Given the description of an element on the screen output the (x, y) to click on. 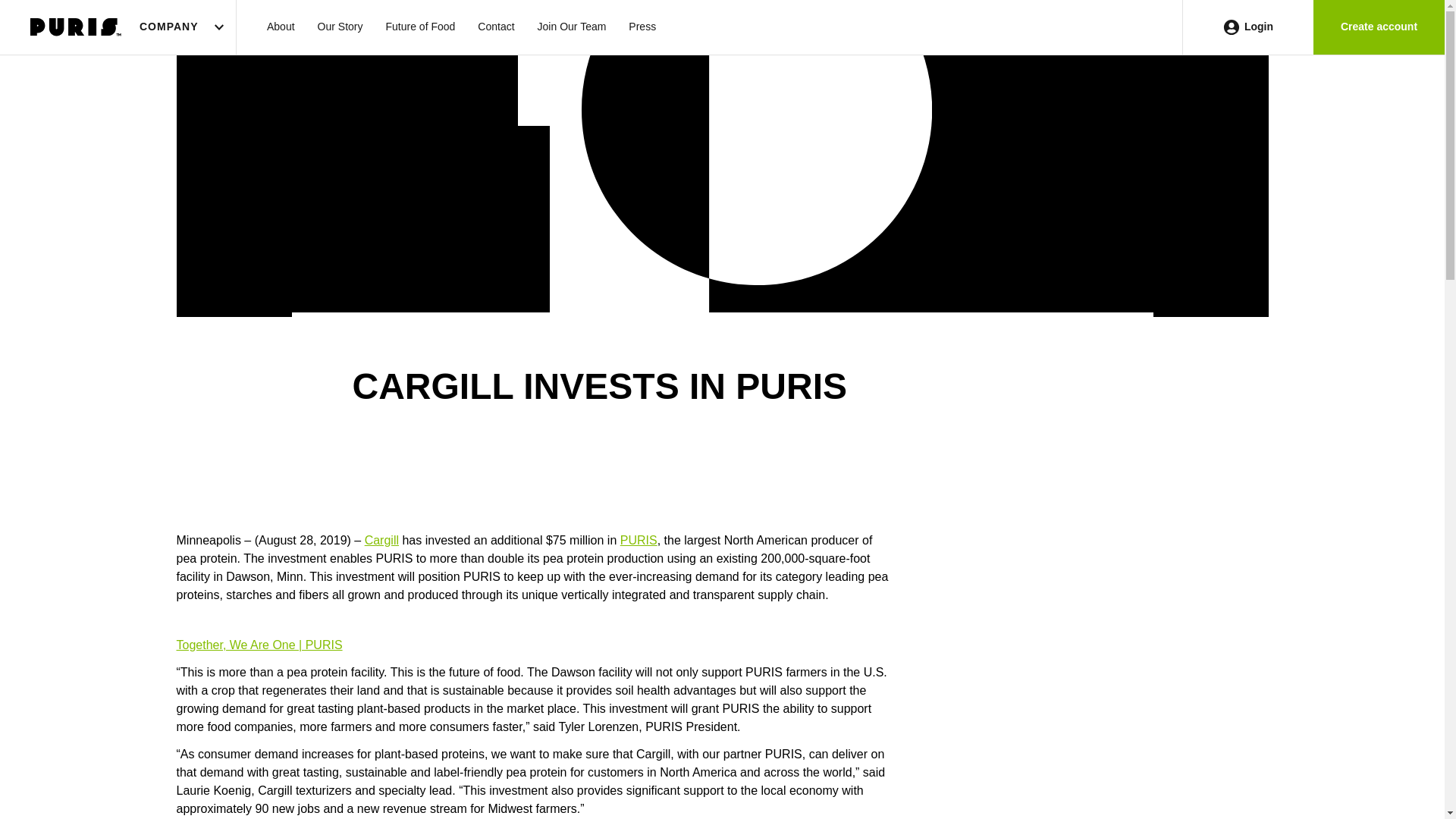
Join Our Team (572, 27)
Cargill (381, 540)
Future of Food (419, 27)
PURIS (639, 540)
Login (1247, 27)
